Given the description of an element on the screen output the (x, y) to click on. 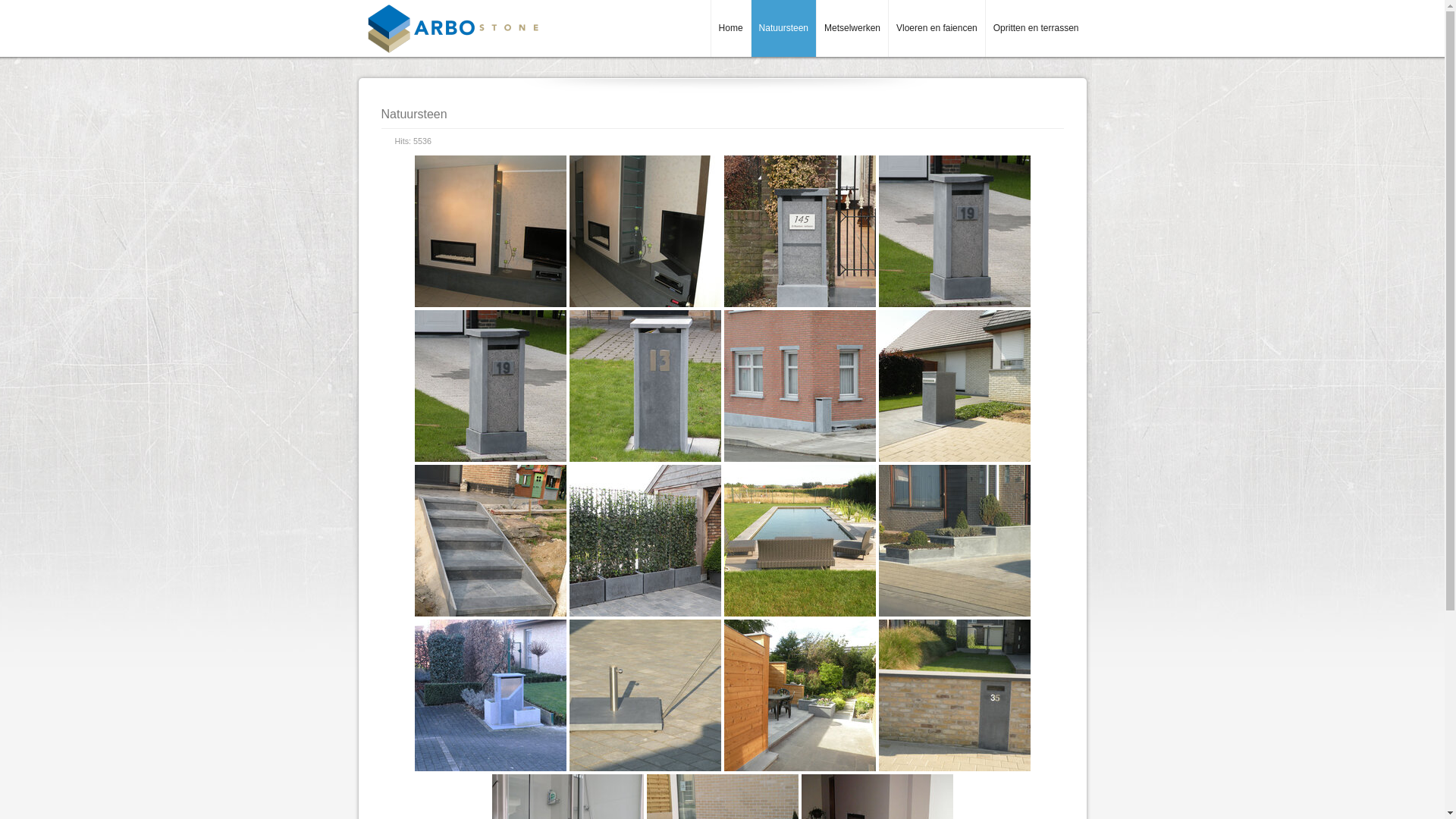
                                Element type: hover (644, 695)
Vloeren en faiencen Element type: text (936, 28)
                                Element type: hover (798, 385)
Natuursteen Element type: text (782, 28)
                                Element type: hover (489, 540)
                                Element type: hover (953, 230)
                                Element type: hover (798, 540)
                                Element type: hover (644, 385)
                                Element type: hover (644, 230)
                                Element type: hover (798, 230)
                                Element type: hover (489, 230)
                                Element type: hover (489, 695)
Home Element type: text (730, 28)
                                Element type: hover (953, 385)
Opritten en terrassen Element type: text (1035, 28)
Metselwerken Element type: text (851, 28)
                                Element type: hover (798, 695)
                                Element type: hover (953, 695)
                                Element type: hover (644, 540)
                                Element type: hover (953, 540)
                                Element type: hover (489, 385)
